Given the description of an element on the screen output the (x, y) to click on. 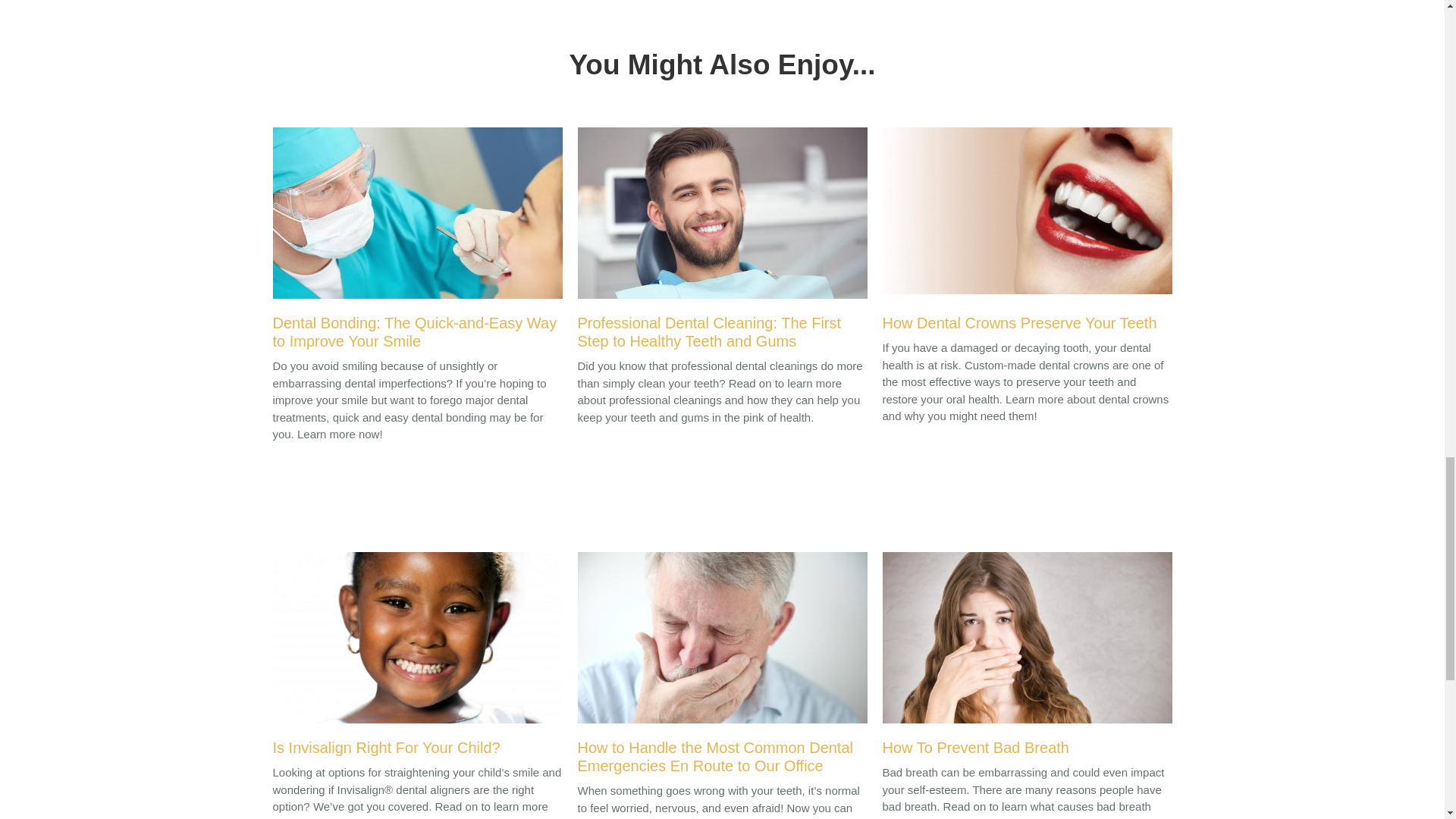
How To Prevent Bad Breath (1027, 658)
Dental Bonding: The Quick-and-Easy Way to Improve Your Smile (417, 242)
How Dental Crowns Preserve Your Teeth (1027, 233)
Is Invisalign Right For Your Child? (417, 658)
